Given the description of an element on the screen output the (x, y) to click on. 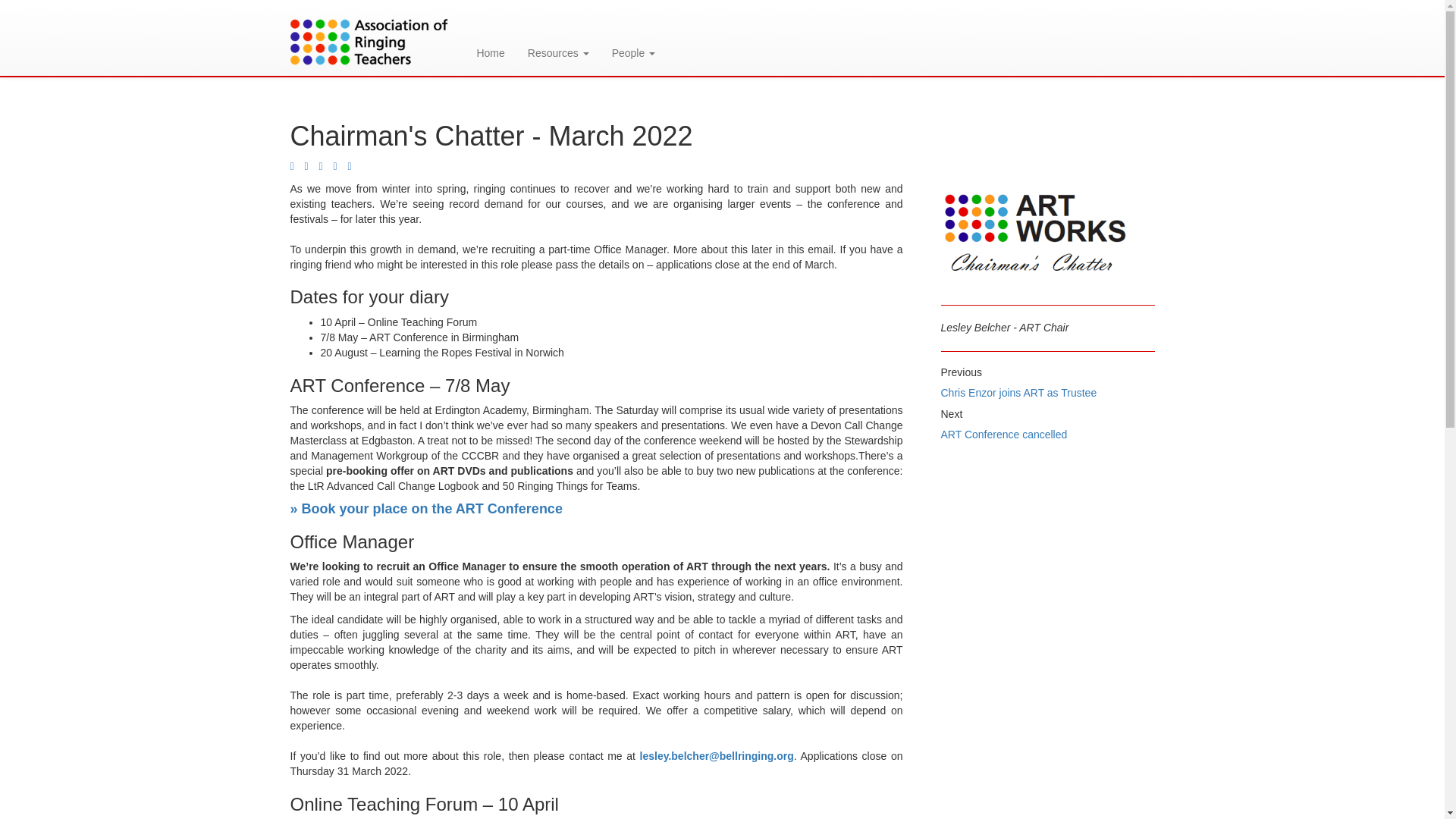
Resources (557, 38)
ART Conference cancelled (1003, 434)
Chris Enzor joins ART as Trustee (1018, 392)
